Given the description of an element on the screen output the (x, y) to click on. 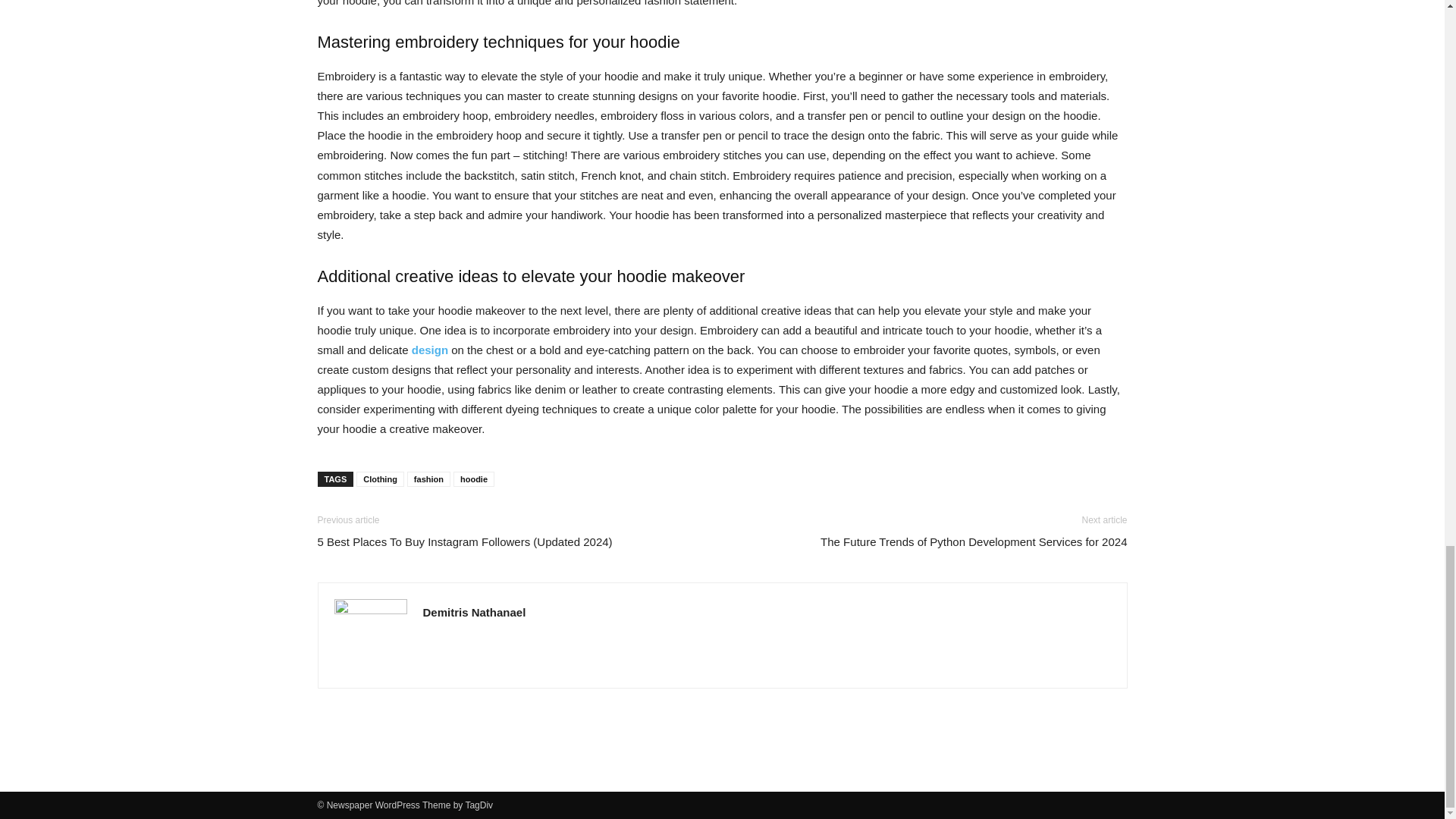
hoodie (473, 478)
design (430, 349)
The Future Trends of Python Development Services for 2024 (973, 541)
Demitris Nathanael (474, 612)
Clothing (380, 478)
fashion (428, 478)
